Given the description of an element on the screen output the (x, y) to click on. 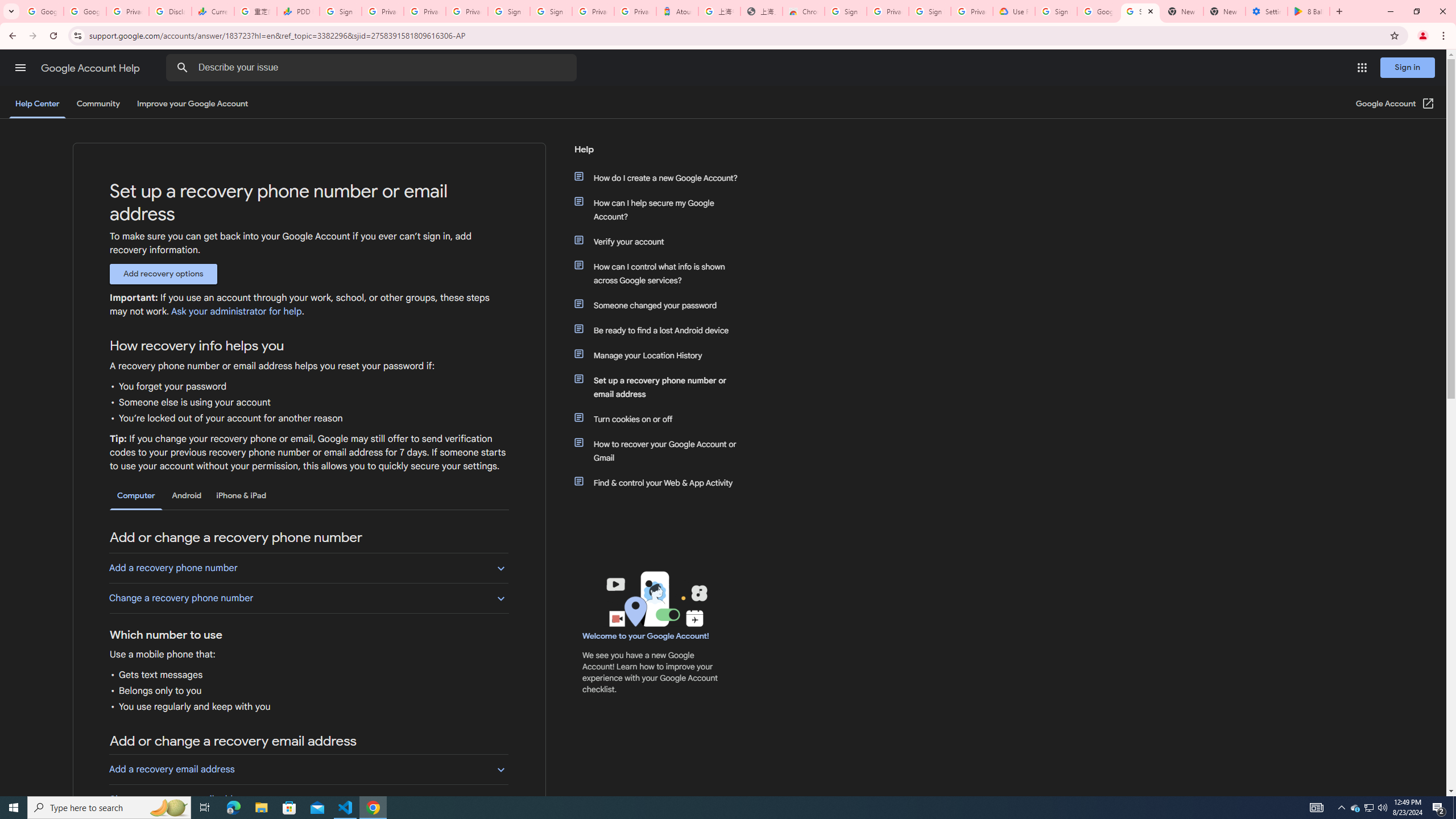
Help (656, 153)
Google Account Help (1097, 11)
Sign in - Google Accounts (550, 11)
How to recover your Google Account or Gmail (661, 450)
Be ready to find a lost Android device (661, 330)
PDD Holdings Inc - ADR (PDD) Price & News - Google Finance (298, 11)
Turn cookies on or off (661, 419)
Add a recovery phone number (308, 567)
Sign in - Google Accounts (930, 11)
8 Ball Pool - Apps on Google Play (1308, 11)
